Given the description of an element on the screen output the (x, y) to click on. 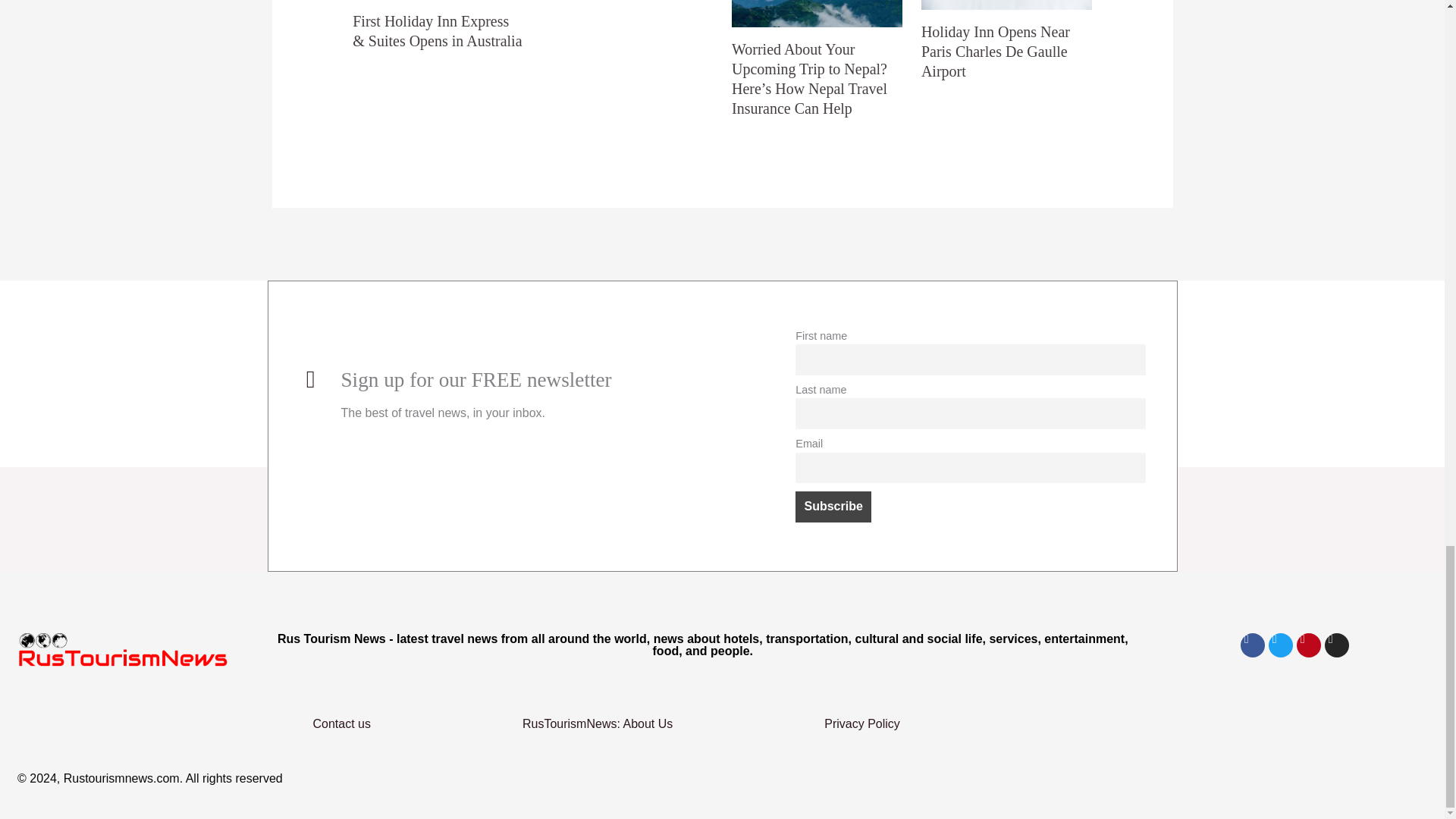
Holiday Inn Opens Near Paris Charles De Gaulle Airport 6 (1006, 4)
Subscribe (832, 506)
